Given the description of an element on the screen output the (x, y) to click on. 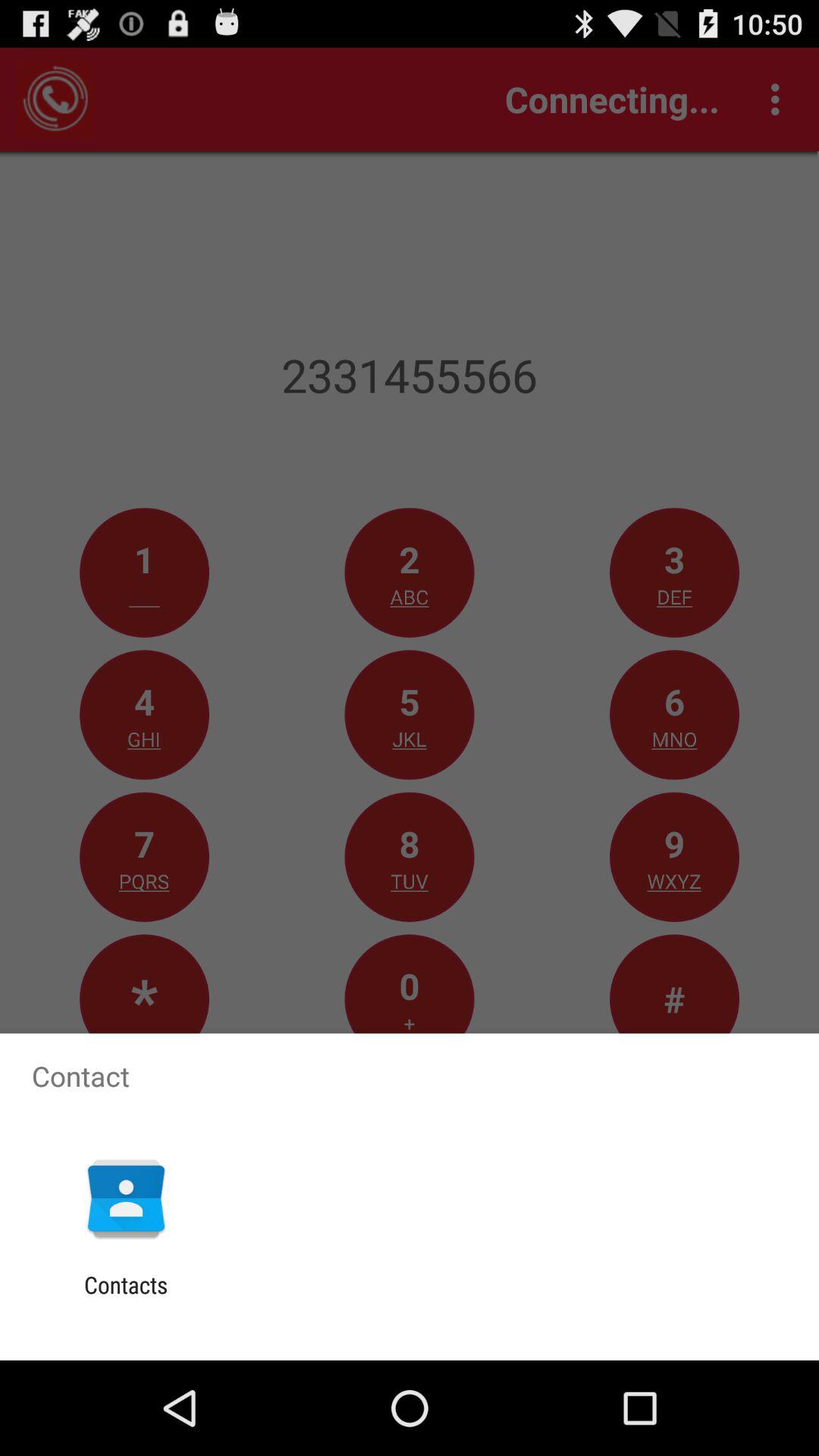
launch the app below the contact app (126, 1198)
